Given the description of an element on the screen output the (x, y) to click on. 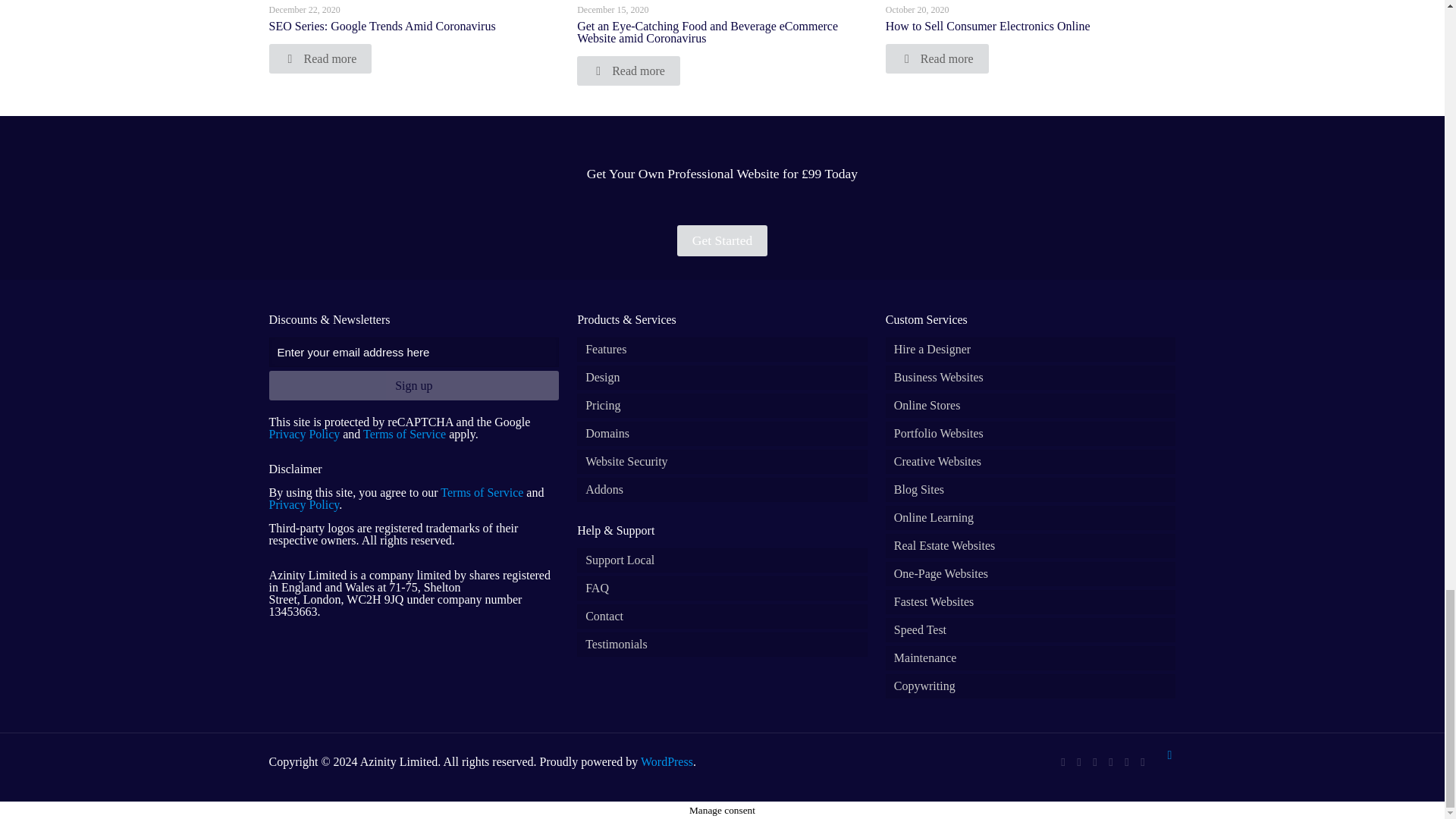
Instagram (1126, 761)
LinkedIn (1094, 761)
Facebook (1062, 761)
Sign up (413, 385)
Pinterest (1110, 761)
